Given the description of an element on the screen output the (x, y) to click on. 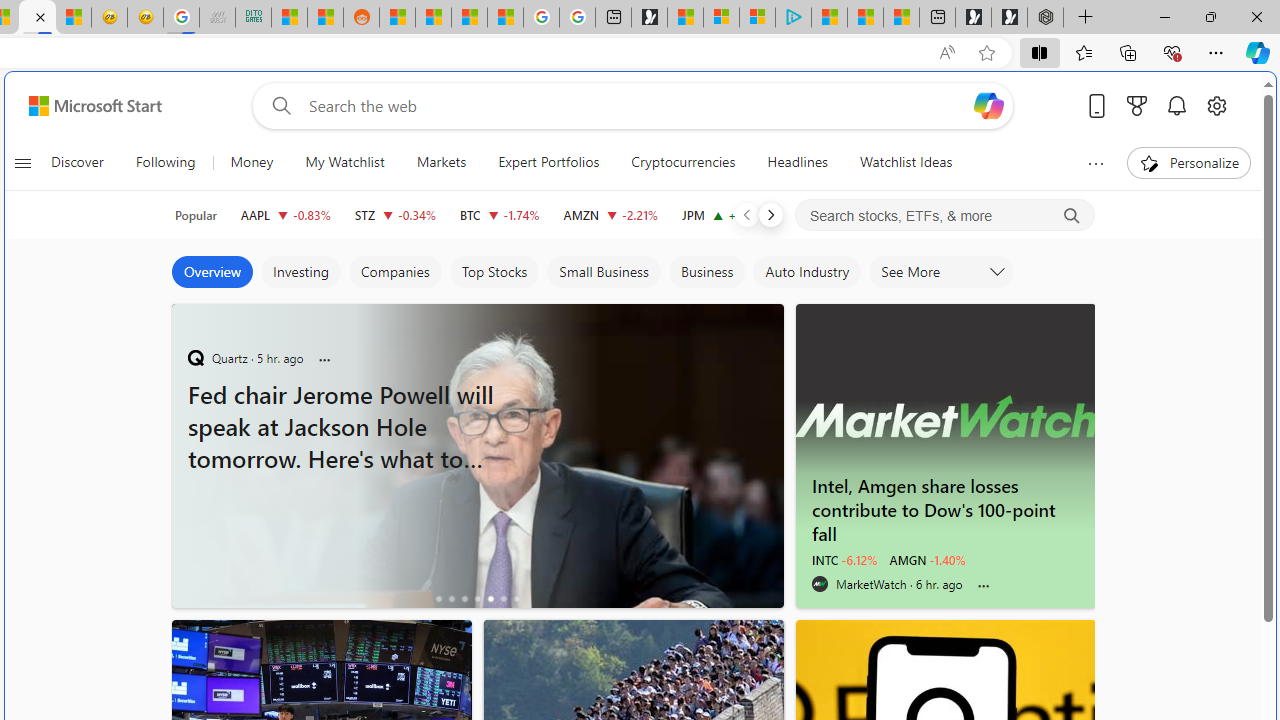
AdChoices (767, 314)
Companies (394, 272)
Previous (746, 214)
Top Stocks (494, 272)
Popular (196, 215)
Next (771, 214)
